Given the description of an element on the screen output the (x, y) to click on. 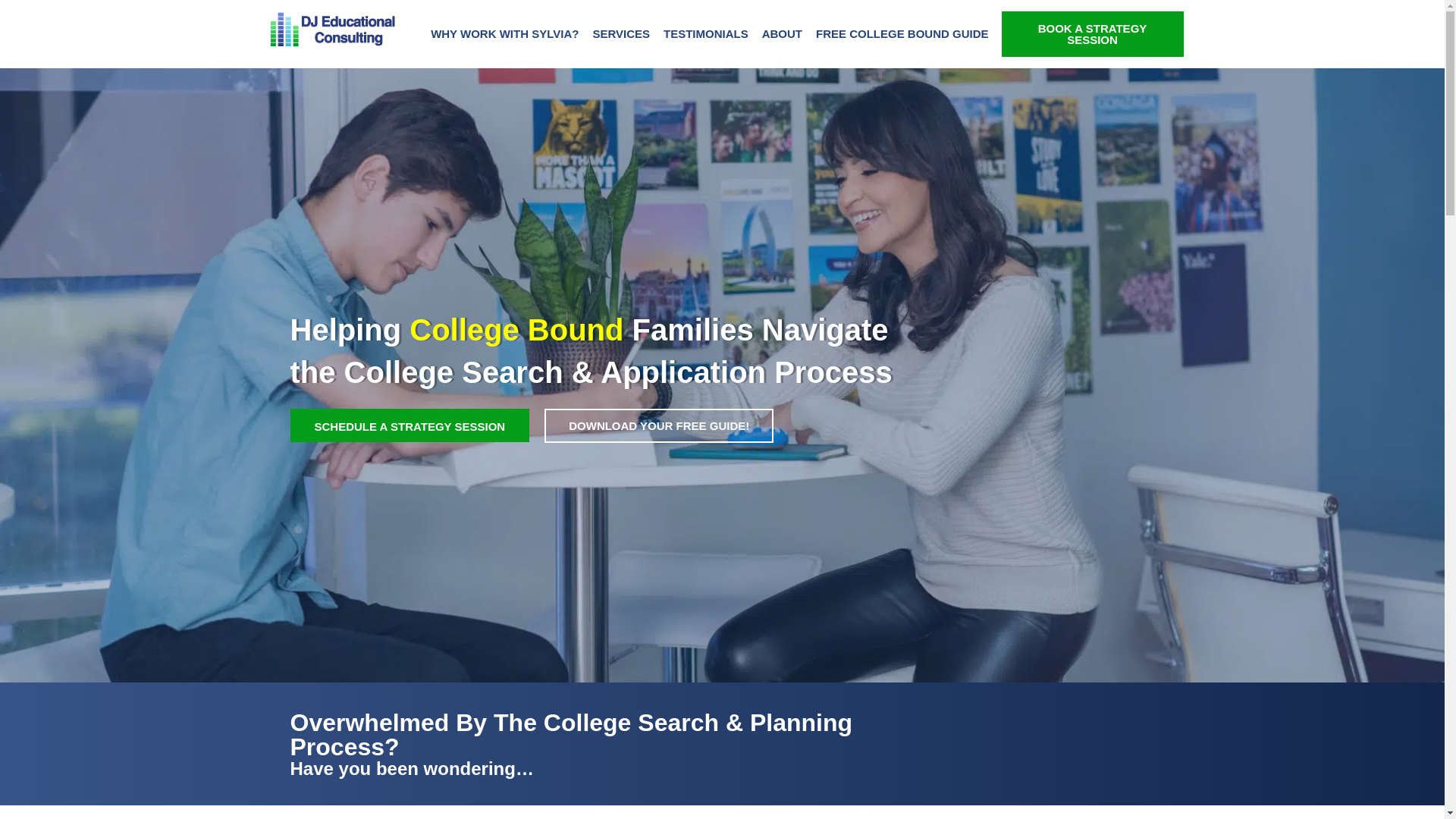
DOWNLOAD YOUR FREE GUIDE! (658, 424)
BOOK A STRATEGY SESSION (1091, 33)
WHY WORK WITH SYLVIA? (504, 33)
ABOUT (782, 33)
SERVICES (620, 33)
SCHEDULE A STRATEGY SESSION (409, 425)
TESTIMONIALS (706, 33)
FREE COLLEGE BOUND GUIDE (902, 33)
